Given the description of an element on the screen output the (x, y) to click on. 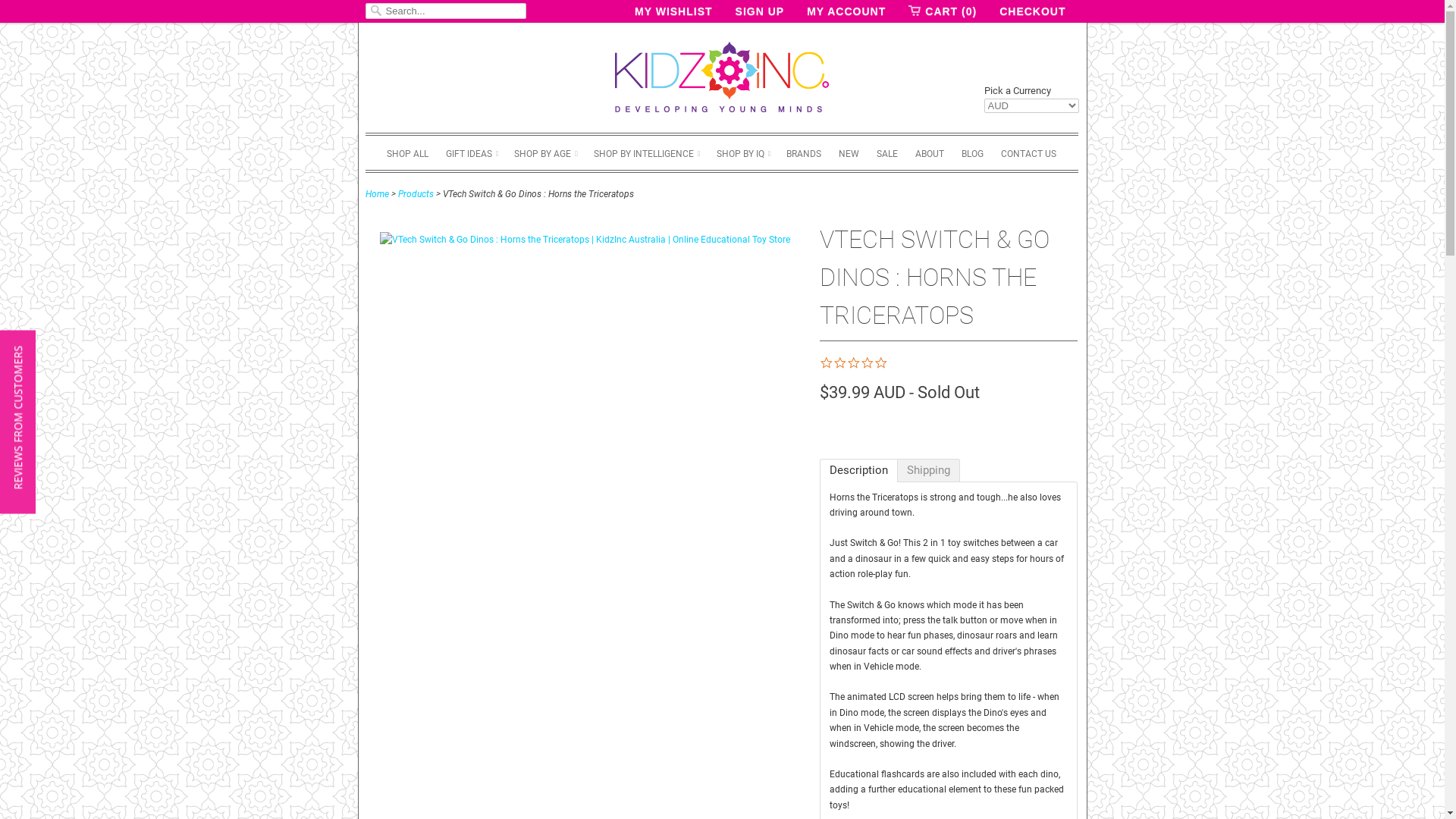
SALE Element type: text (886, 152)
ABOUT Element type: text (929, 152)
Products Element type: text (415, 193)
BRANDS Element type: text (803, 152)
CONTACT US Element type: text (1028, 152)
Shipping Element type: text (928, 470)
CHECKOUT Element type: text (1032, 11)
CART (0) Element type: text (942, 11)
SIGN UP Element type: text (759, 11)
MY ACCOUNT Element type: text (845, 11)
MY WISHLIST Element type: text (673, 11)
Description Element type: text (858, 470)
SHOP ALL Element type: text (407, 152)
BLOG Element type: text (972, 152)
Home Element type: text (377, 193)
NEW Element type: text (848, 152)
